Given the description of an element on the screen output the (x, y) to click on. 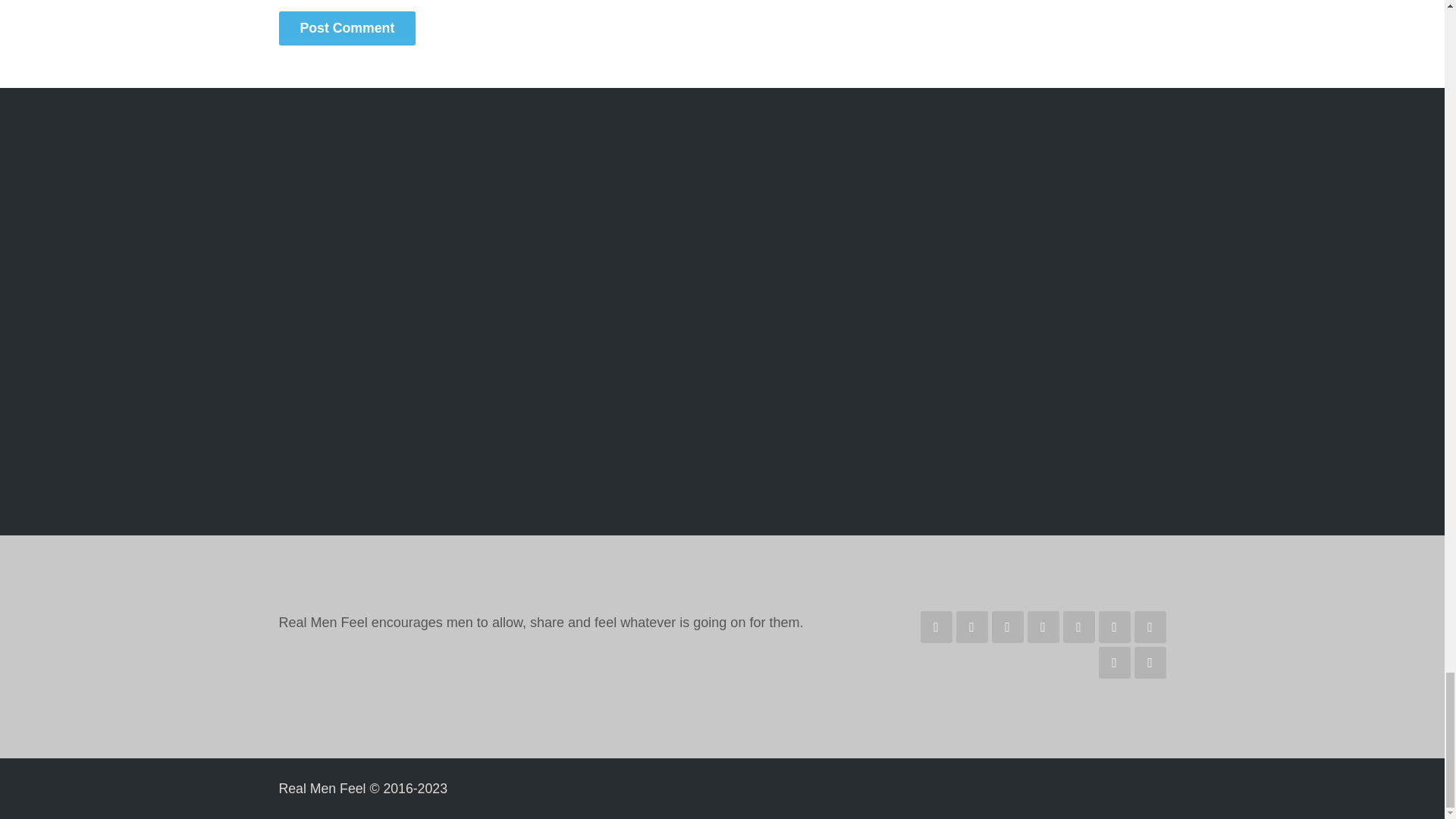
Post Comment (347, 28)
